Given the description of an element on the screen output the (x, y) to click on. 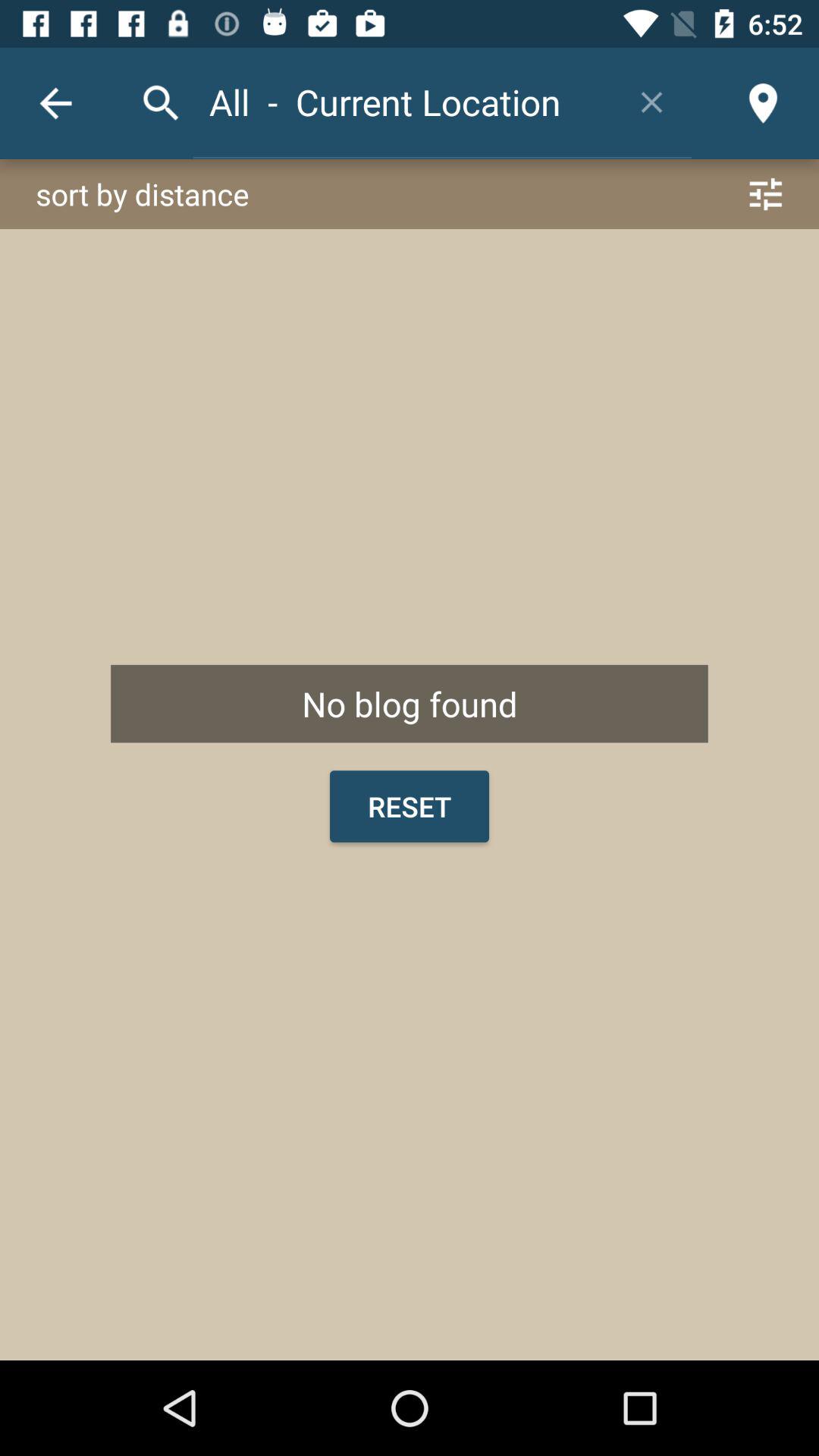
press icon to the right of all  -  current location (651, 101)
